Given the description of an element on the screen output the (x, y) to click on. 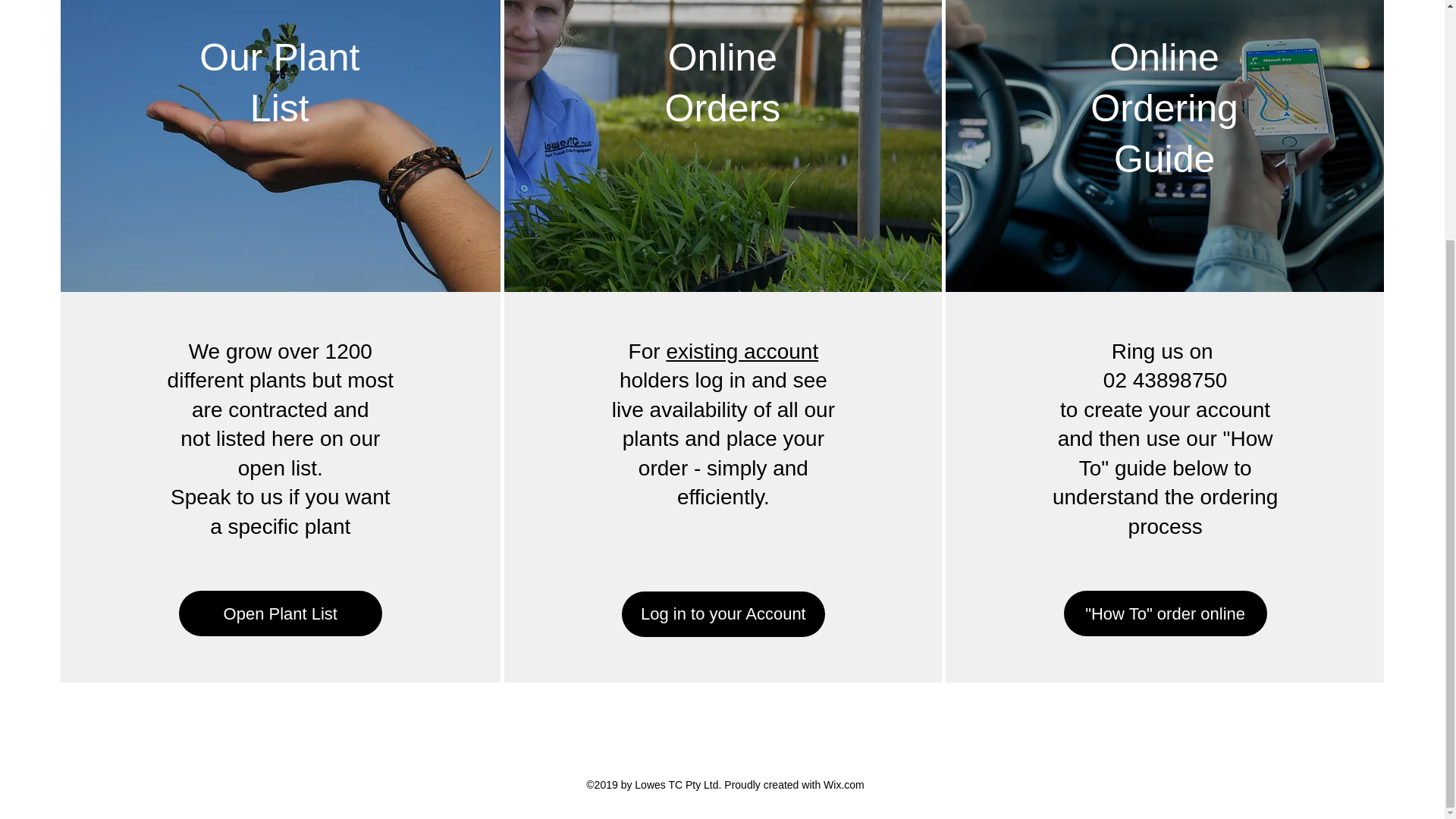
Log in to your Account (723, 614)
Open Plant List (280, 613)
"How To" order online (1165, 613)
